Given the description of an element on the screen output the (x, y) to click on. 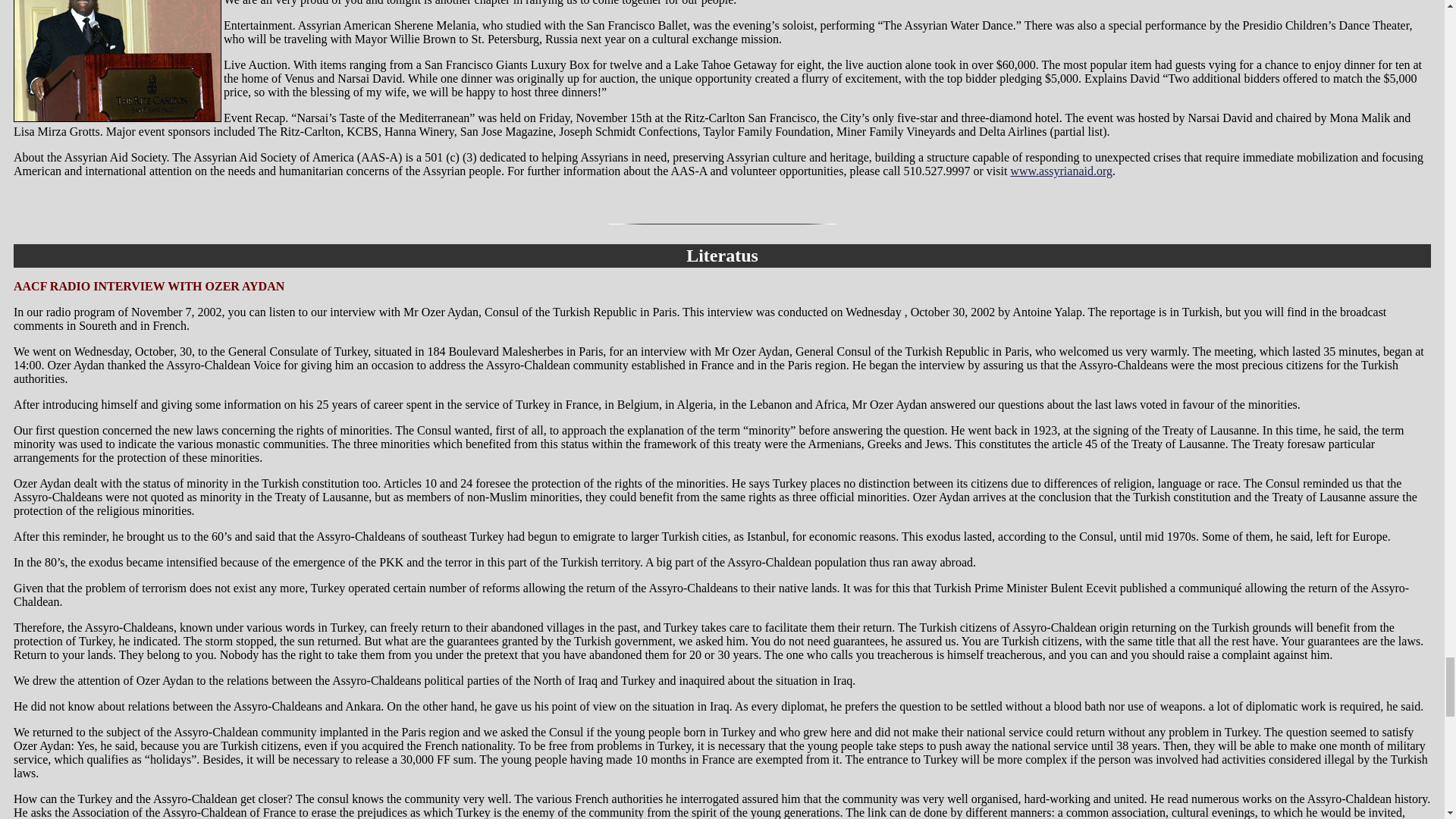
www.assyrianaid.org (1061, 170)
